Given the description of an element on the screen output the (x, y) to click on. 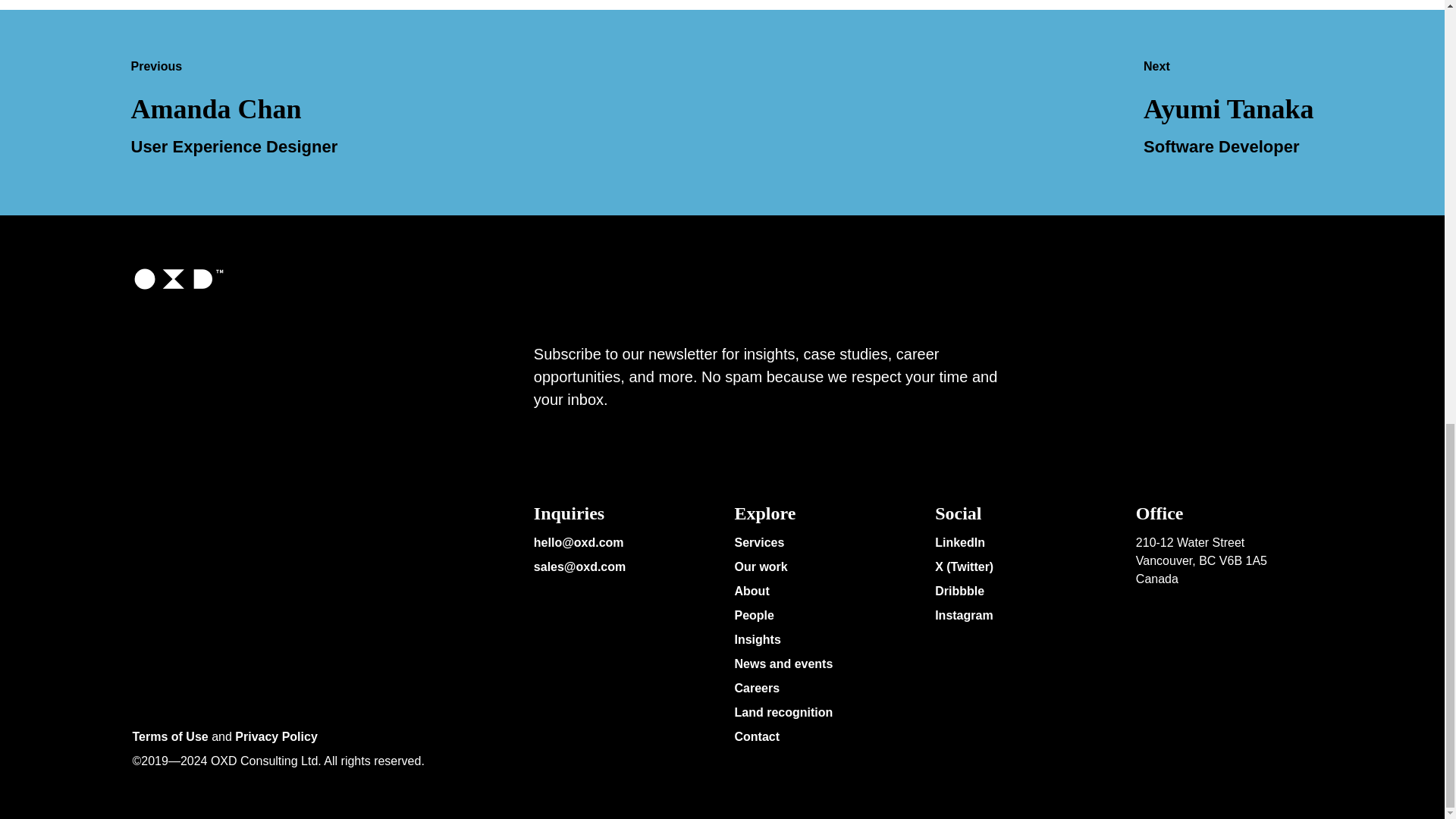
Amanda Chan (216, 111)
Services (758, 544)
About (750, 592)
Our work (760, 569)
Ayumi Tanaka (1227, 111)
